Given the description of an element on the screen output the (x, y) to click on. 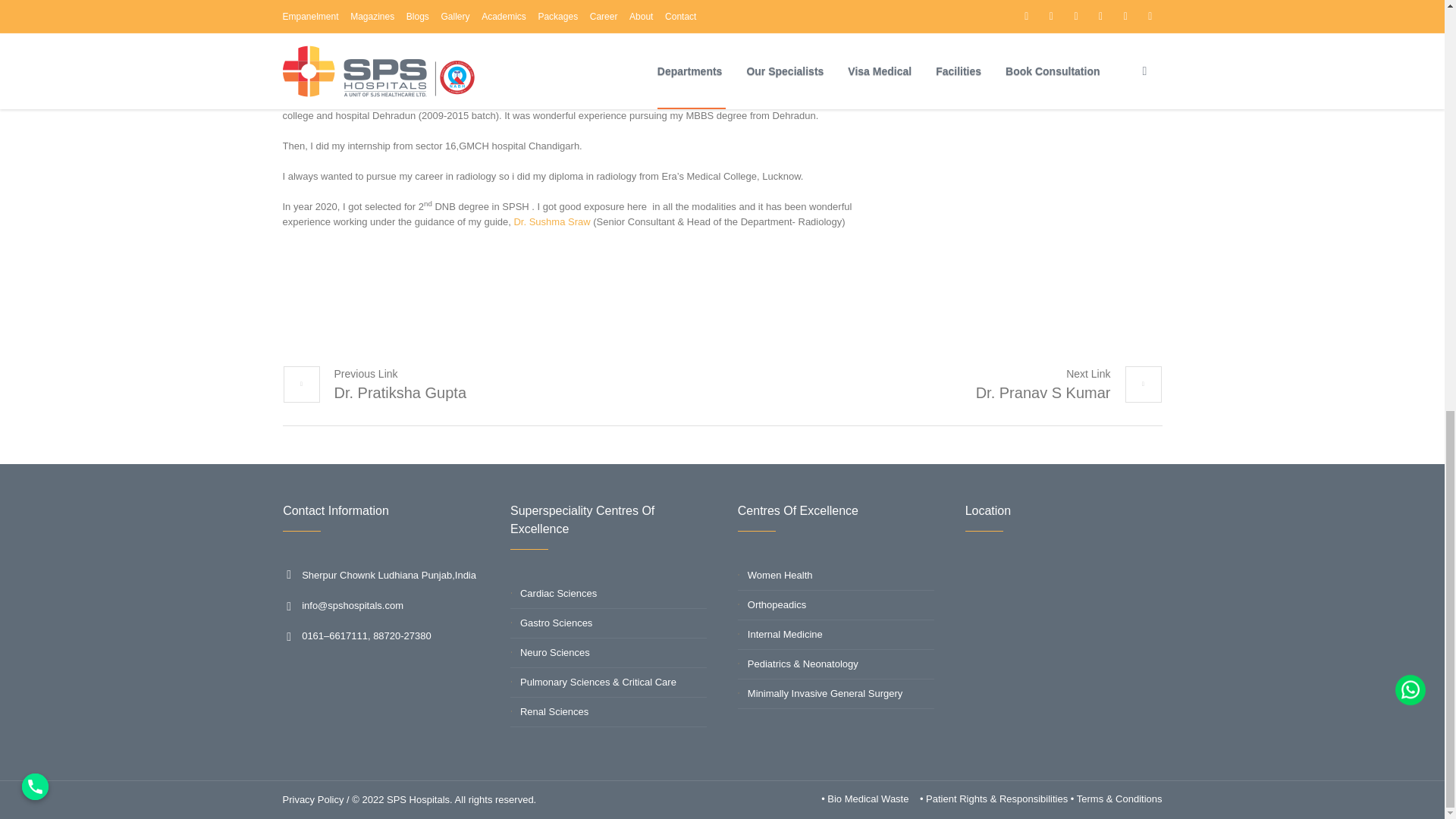
Gastro Sciences (555, 622)
Dr. Pranav S Kumar (1068, 384)
Dr. Pratiksha Gupta (373, 384)
Dr. Sushma Sraw (551, 221)
Neuro Sciences (554, 652)
Cardiac Sciences (557, 593)
